Given the description of an element on the screen output the (x, y) to click on. 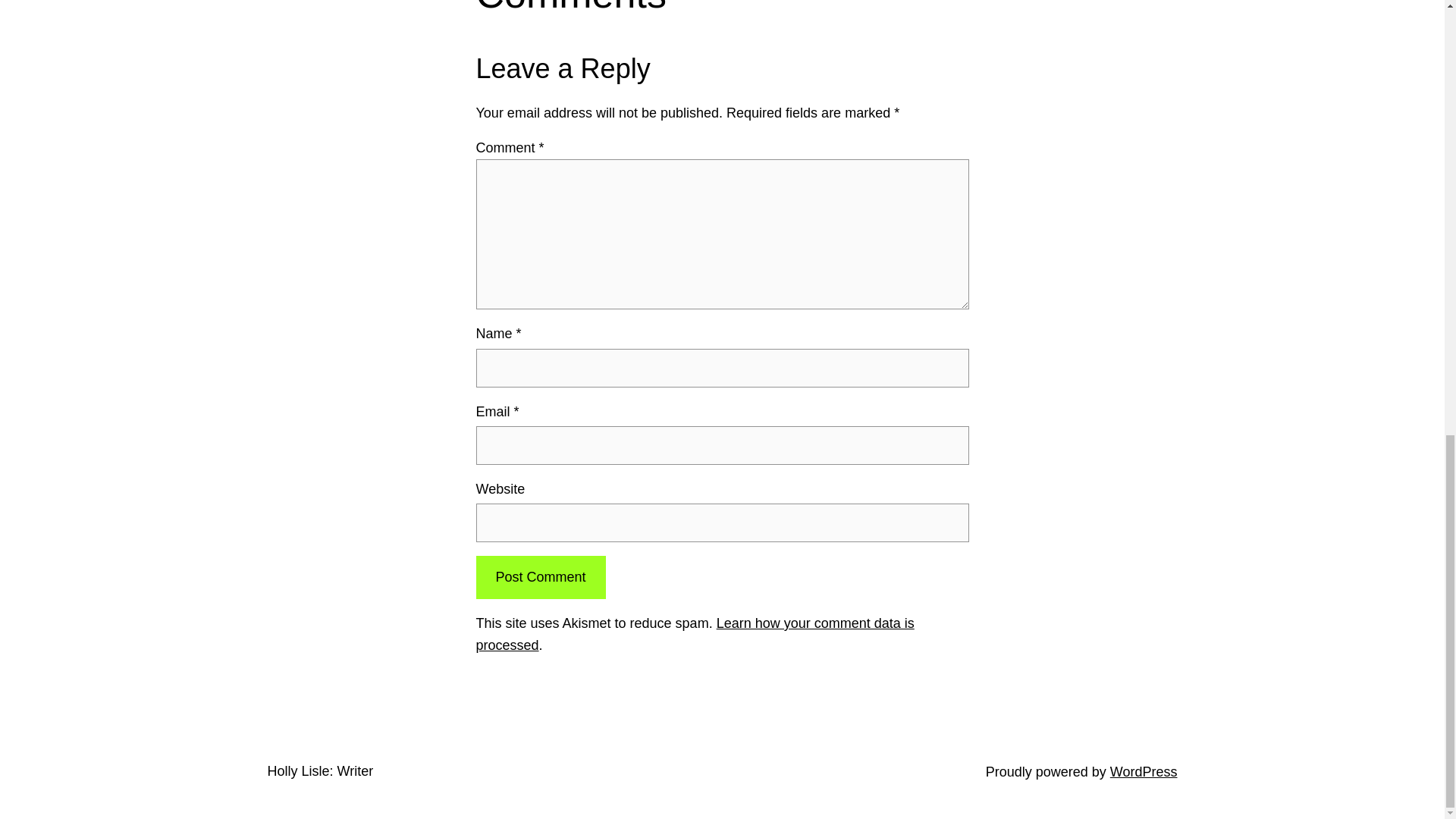
Post Comment (540, 577)
Learn how your comment data is processed (695, 633)
Holly Lisle: Writer (319, 770)
Post Comment (540, 577)
WordPress (1143, 771)
